Given the description of an element on the screen output the (x, y) to click on. 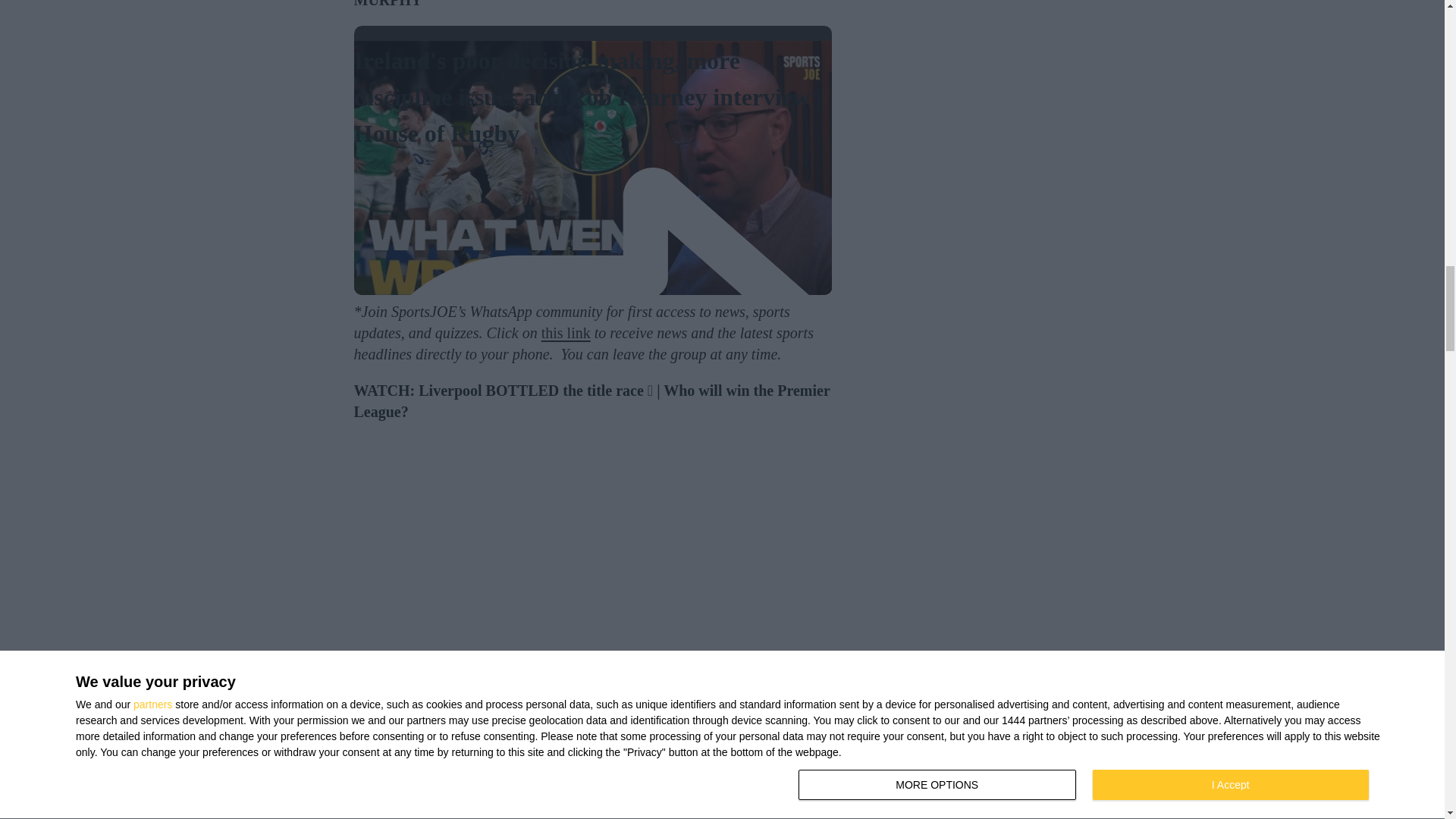
YouTube video player (592, 556)
